Given the description of an element on the screen output the (x, y) to click on. 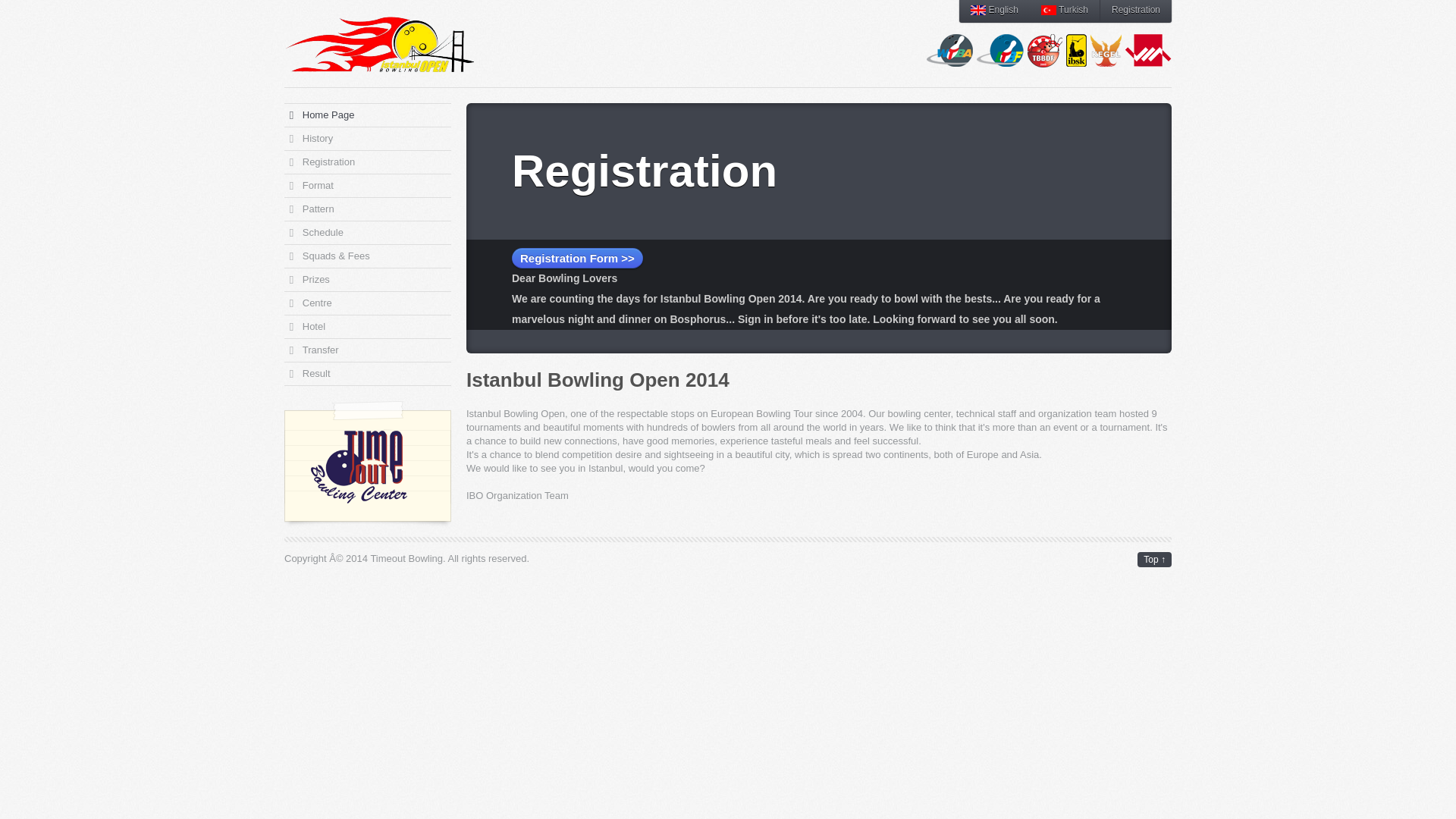
History (367, 138)
Hotel (367, 326)
Registration (1136, 10)
Centre (367, 302)
Transfer (367, 350)
Pattern (367, 209)
Result (367, 373)
 English (994, 10)
Format (367, 185)
istanbul (378, 43)
Prizes (367, 279)
Home Page (367, 115)
Registration (367, 161)
Schedule (367, 232)
 Turkish (1064, 10)
